Given the description of an element on the screen output the (x, y) to click on. 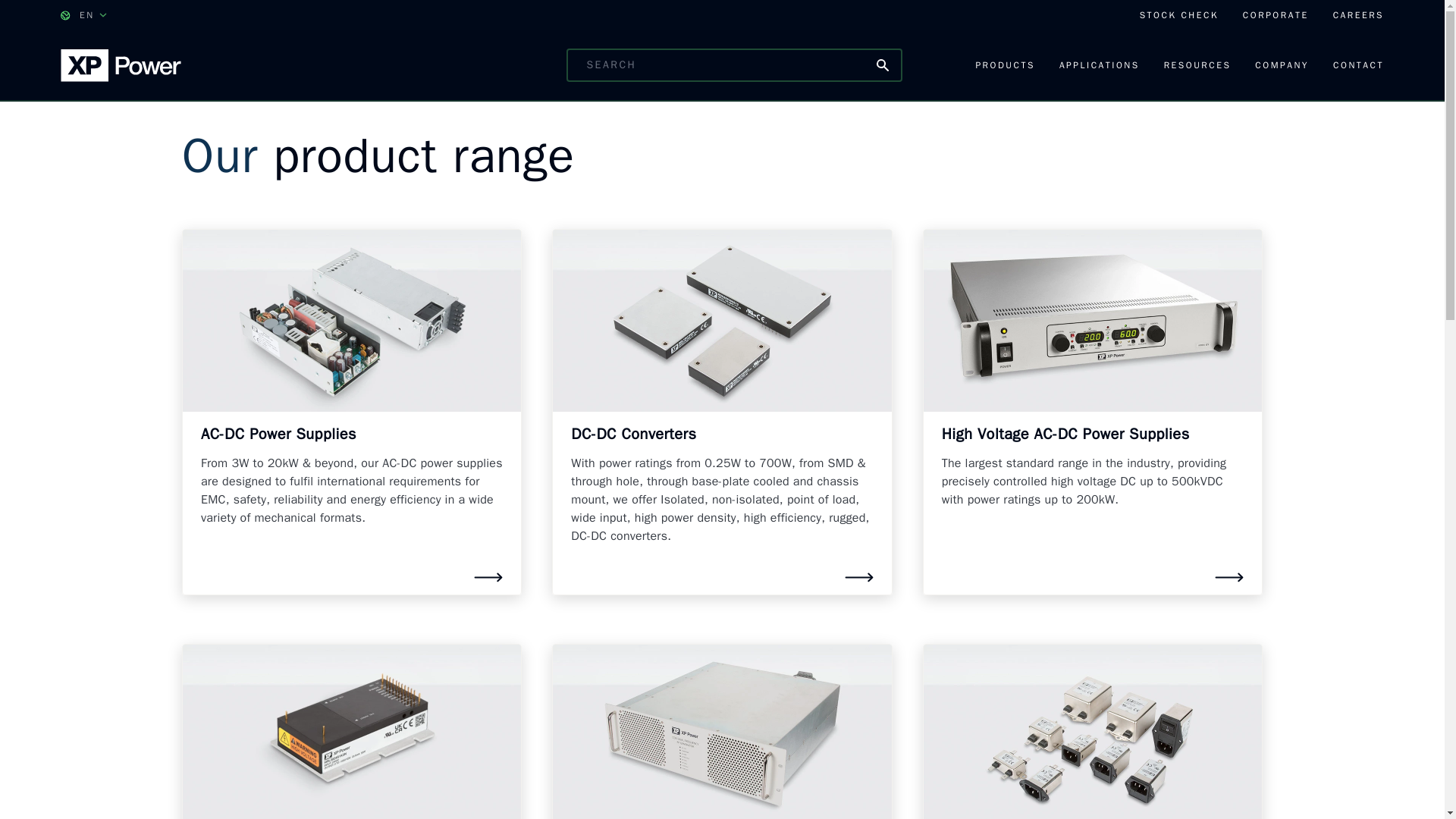
STOCK CHECK (1179, 15)
XP Power (120, 64)
CORPORATE (1275, 15)
CAREERS (1358, 15)
